Given the description of an element on the screen output the (x, y) to click on. 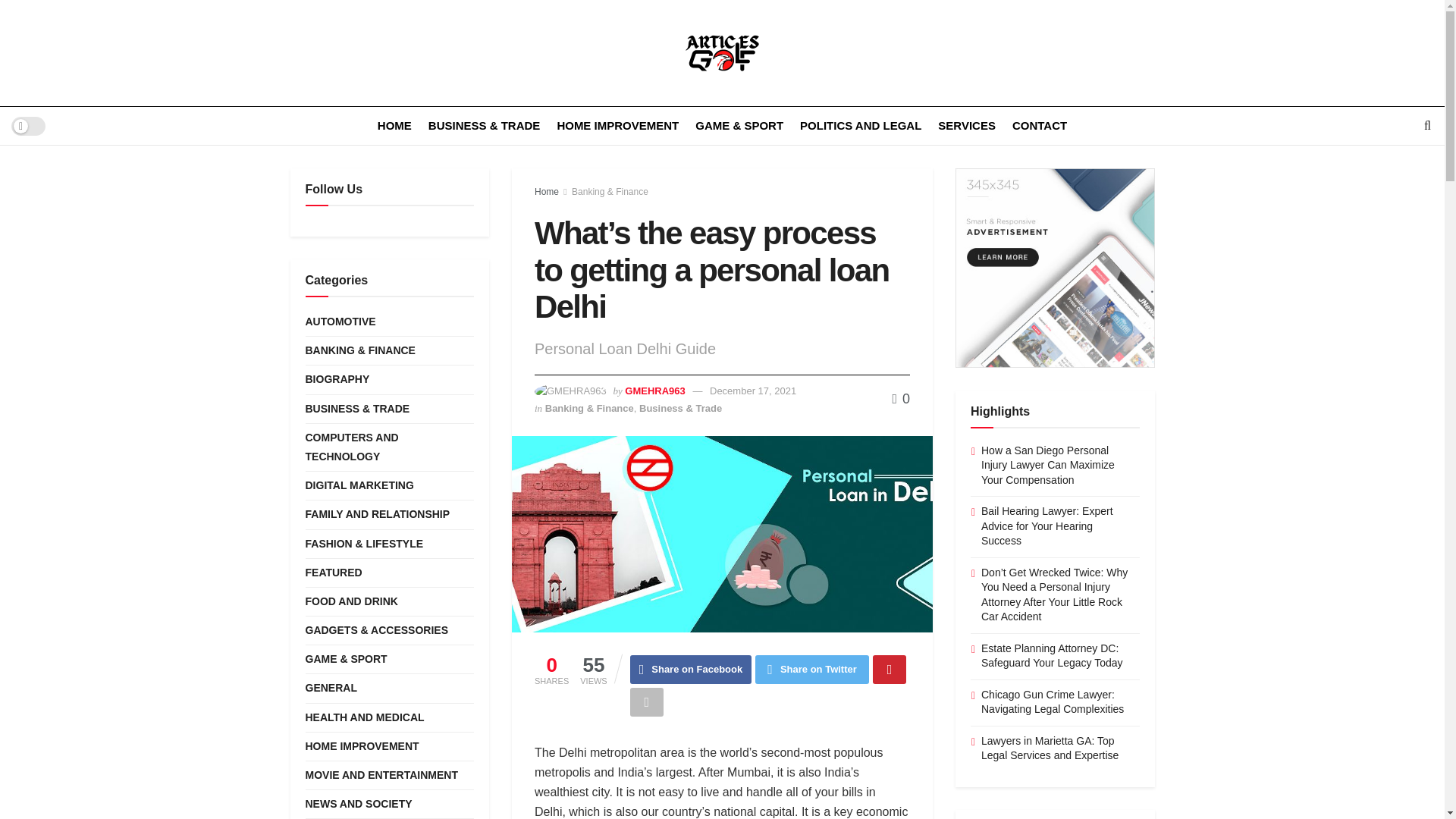
Share on Twitter (812, 669)
SERVICES (966, 125)
POLITICS AND LEGAL (860, 125)
December 17, 2021 (753, 390)
Share on Facebook (691, 669)
CONTACT (1039, 125)
HOME IMPROVEMENT (617, 125)
HOME (394, 125)
Home (546, 191)
GMEHRA963 (654, 390)
0 (900, 398)
